Given the description of an element on the screen output the (x, y) to click on. 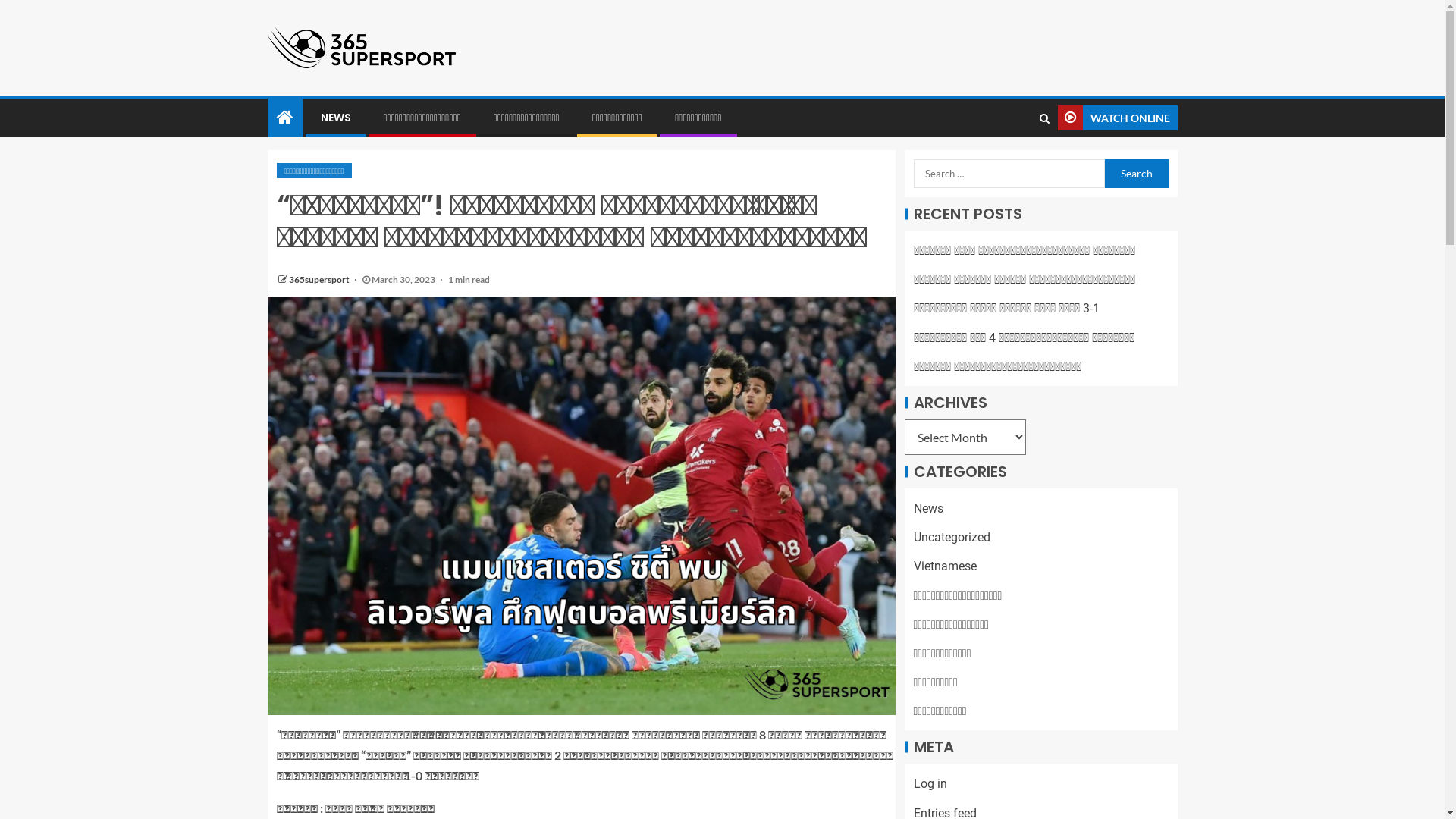
WATCH ONLINE Element type: text (1116, 118)
365supersport Element type: text (319, 279)
NEWS Element type: text (335, 117)
Uncategorized Element type: text (951, 537)
Log in Element type: text (929, 783)
Search Element type: text (1135, 173)
Search Element type: hover (1043, 117)
Vietnamese Element type: text (944, 565)
Search Element type: text (1014, 163)
News Element type: text (927, 508)
